Given the description of an element on the screen output the (x, y) to click on. 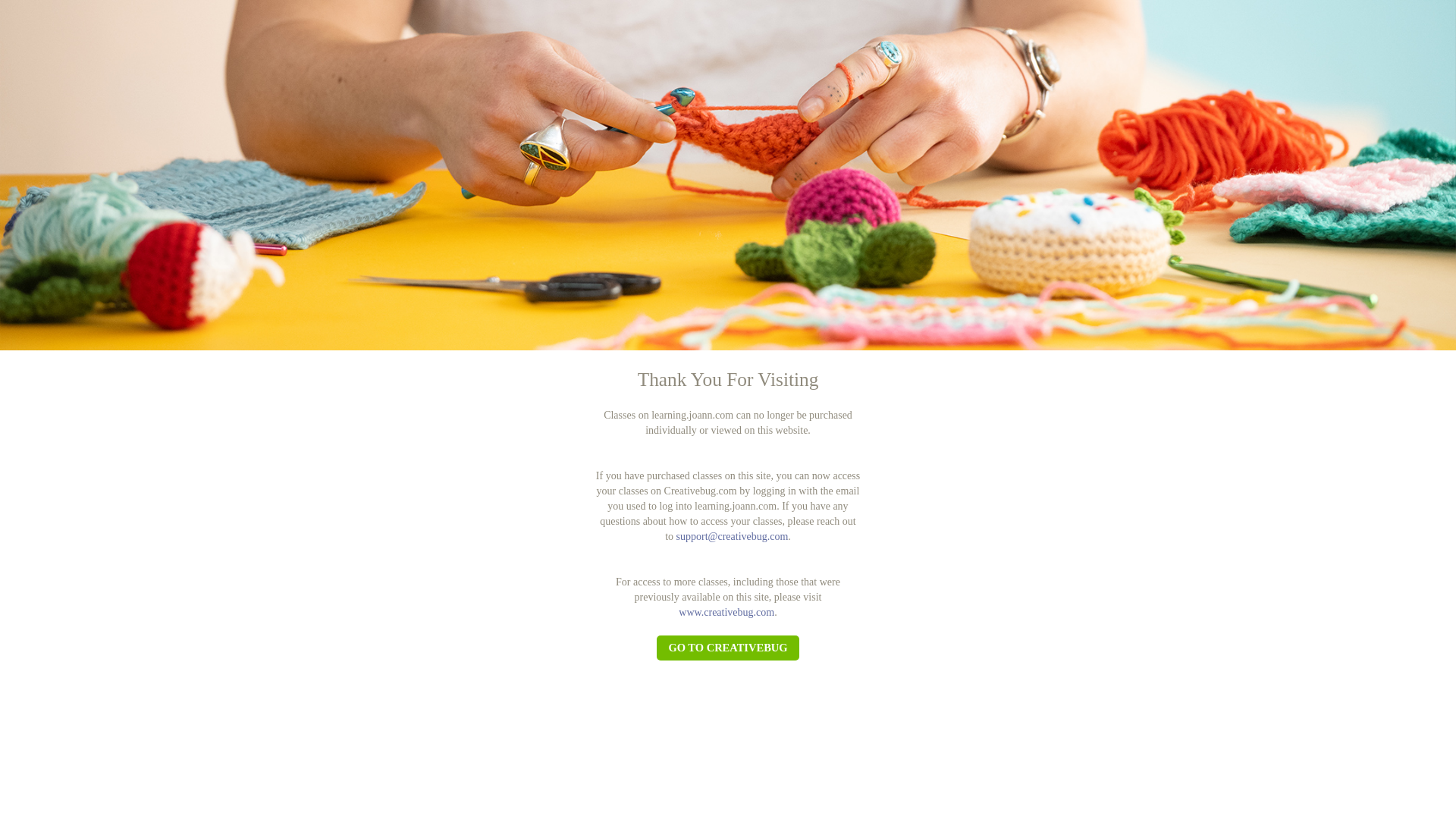
GO TO CREATIVEBUG (726, 647)
www.creativebug.com (726, 612)
